Given the description of an element on the screen output the (x, y) to click on. 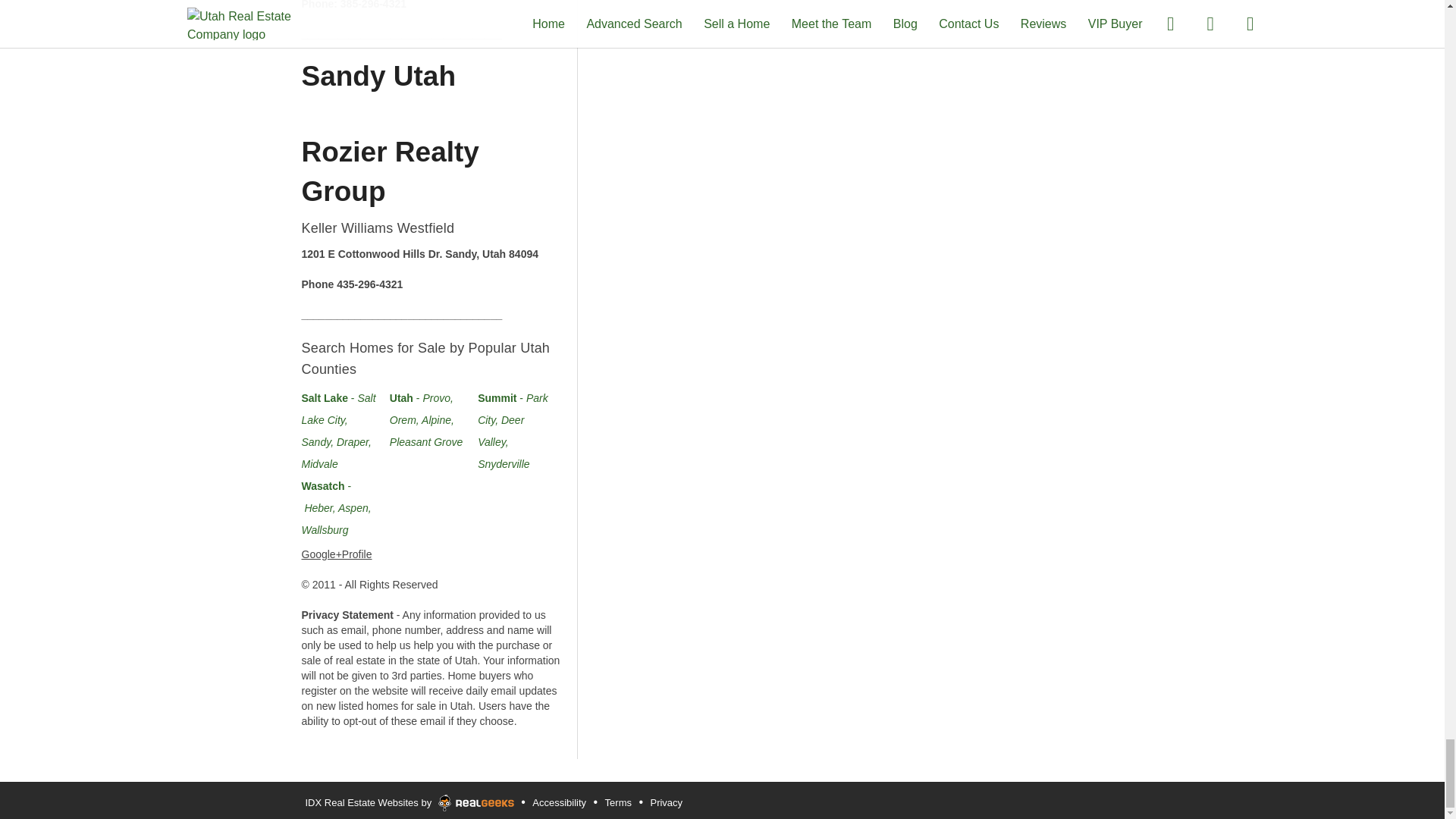
Wasatch County Real Estate (336, 507)
Salt Lake County Real Estate (338, 431)
Summit County Real Estate (512, 431)
Utah County Real Estate (426, 419)
